Given the description of an element on the screen output the (x, y) to click on. 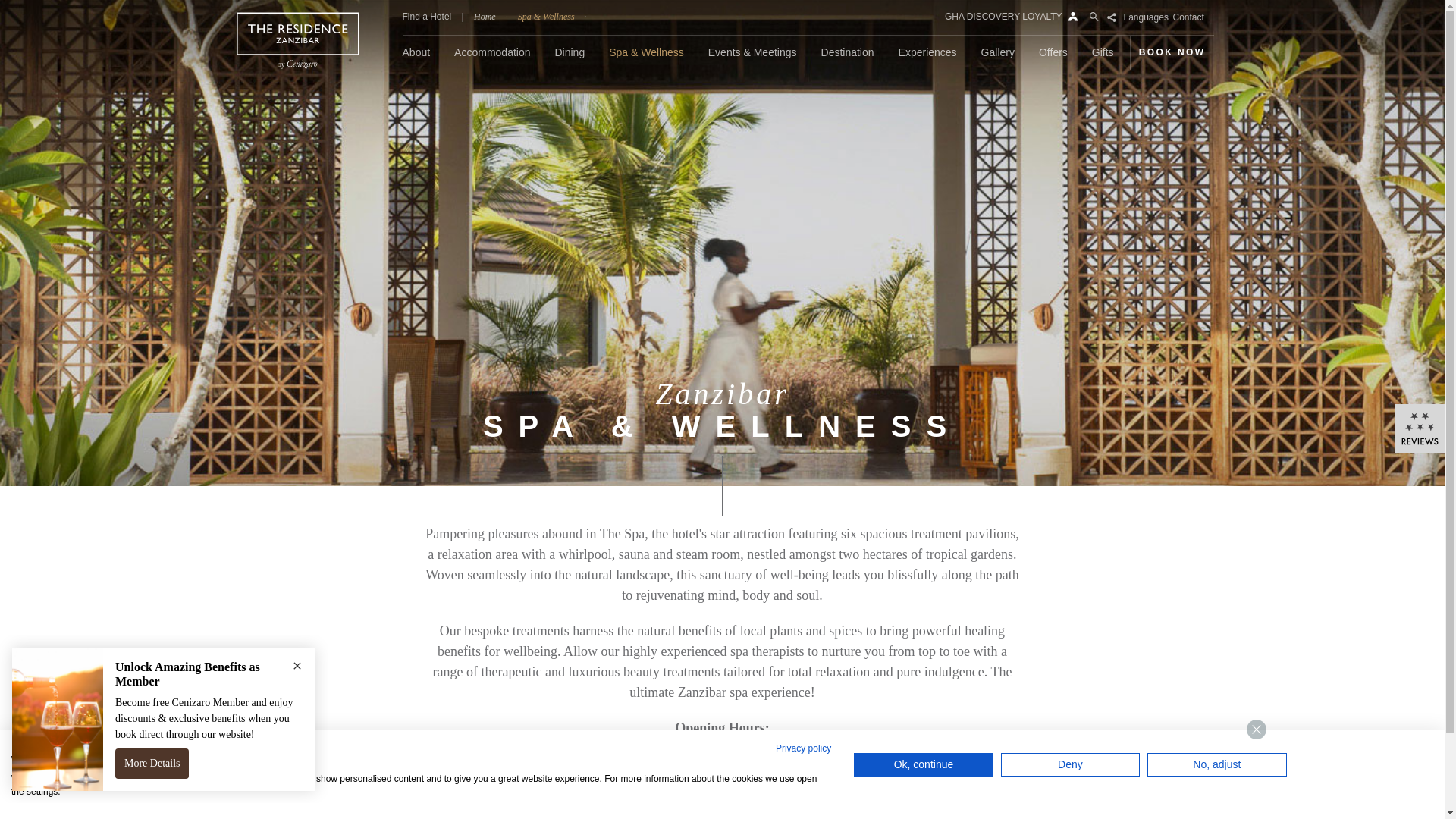
Dining (569, 58)
Offers (1053, 58)
BOOK NOW (1171, 52)
greeting (1349, 737)
Home (485, 16)
Gallery (997, 58)
Overlay Message (163, 727)
Find a Hotel (427, 16)
Gifts (1102, 58)
Languages (1146, 17)
Check Availability (1100, 303)
launcher (1403, 790)
Destination (847, 58)
Accommodation (491, 58)
GHA DISCOVERY LOYALTY (1007, 16)
